Given the description of an element on the screen output the (x, y) to click on. 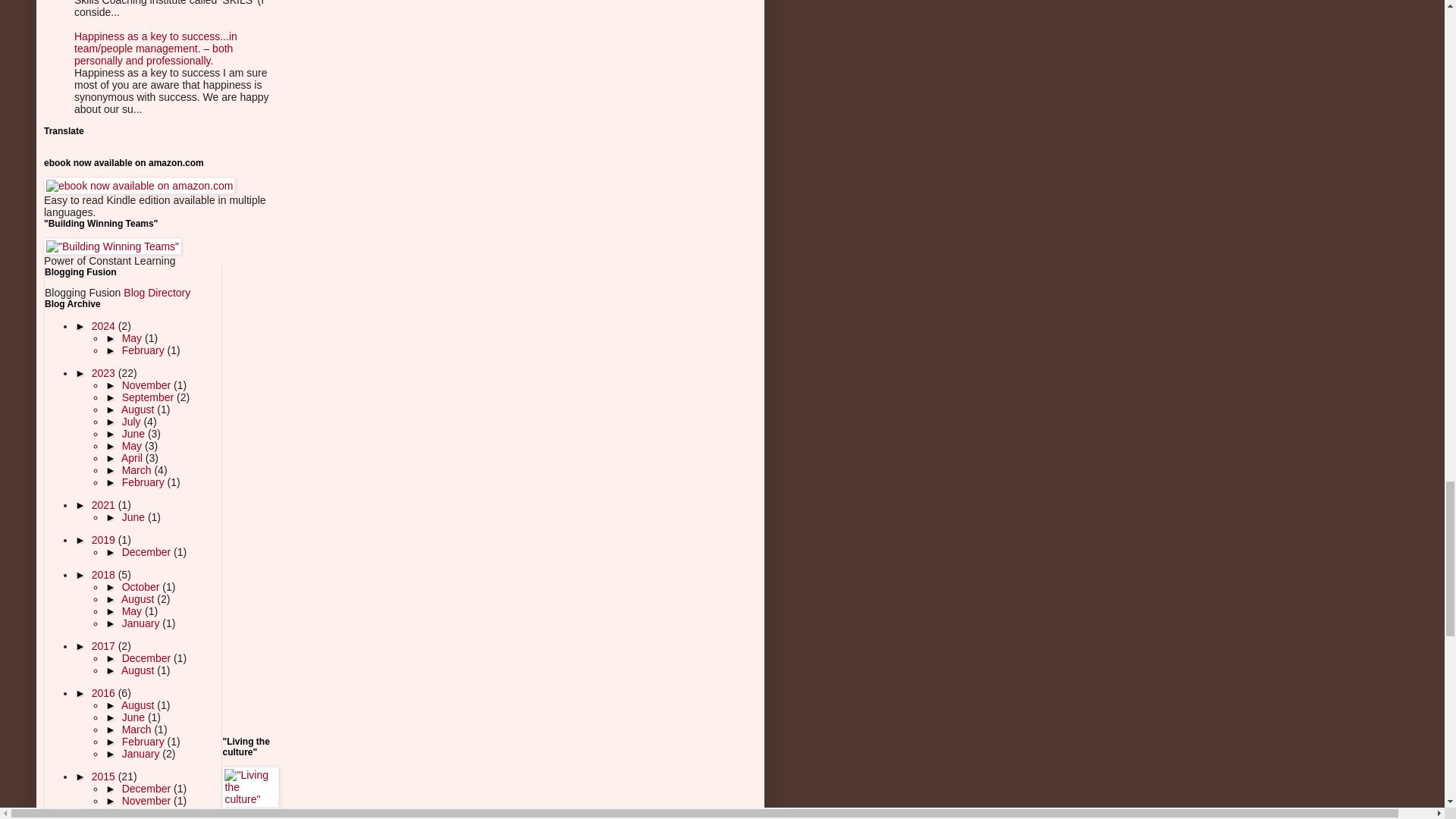
Blogging Fusion Blog Directory (156, 292)
